Given the description of an element on the screen output the (x, y) to click on. 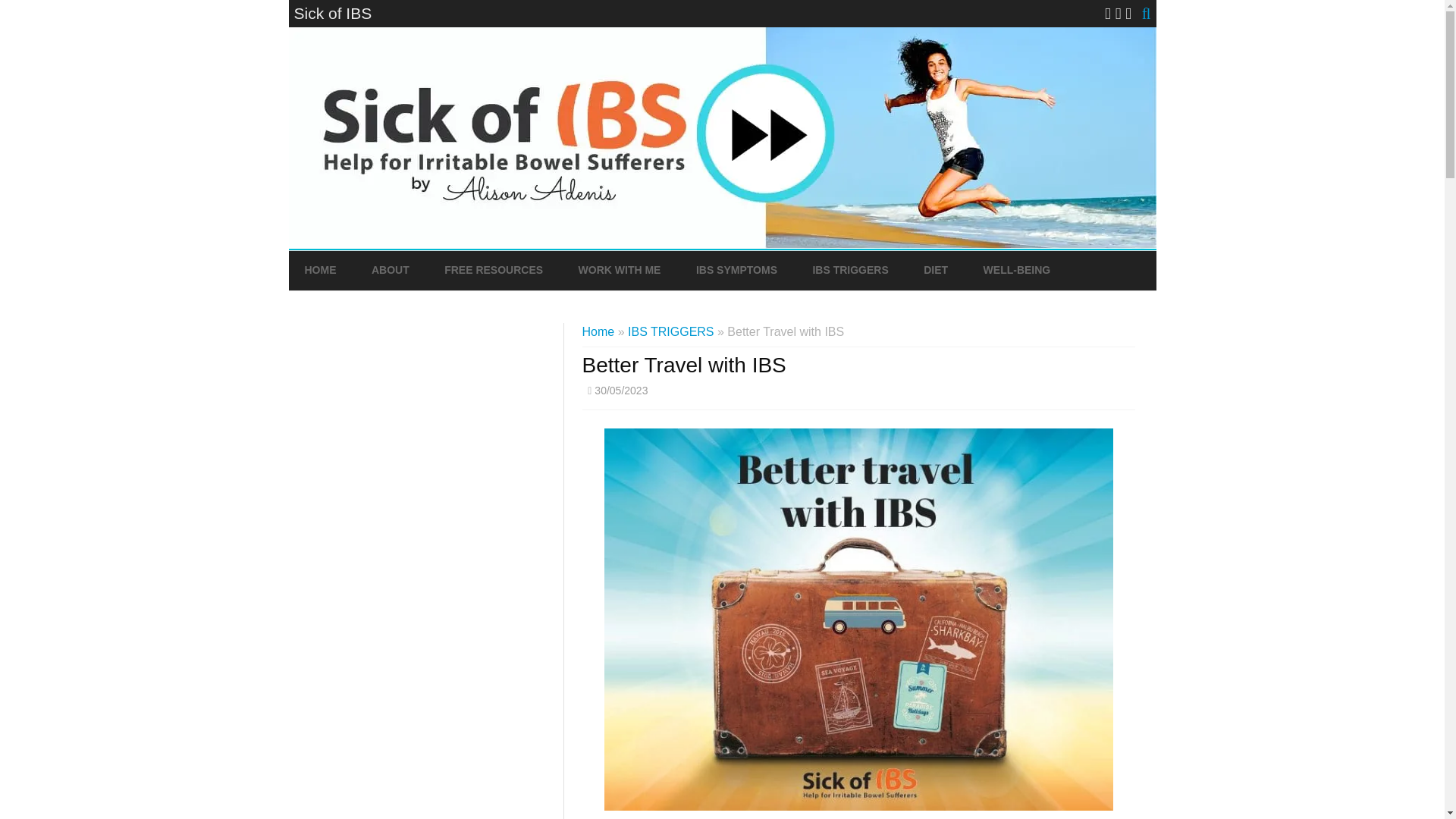
WELL-BEING (1017, 270)
IBS TRIGGERS (850, 270)
IBS SYMPTOMS (736, 270)
Home (598, 331)
IBS TRIGGERS (670, 331)
ABOUT (390, 270)
WORK WITH ME (619, 270)
FREE RESOURCES (493, 270)
